Given the description of an element on the screen output the (x, y) to click on. 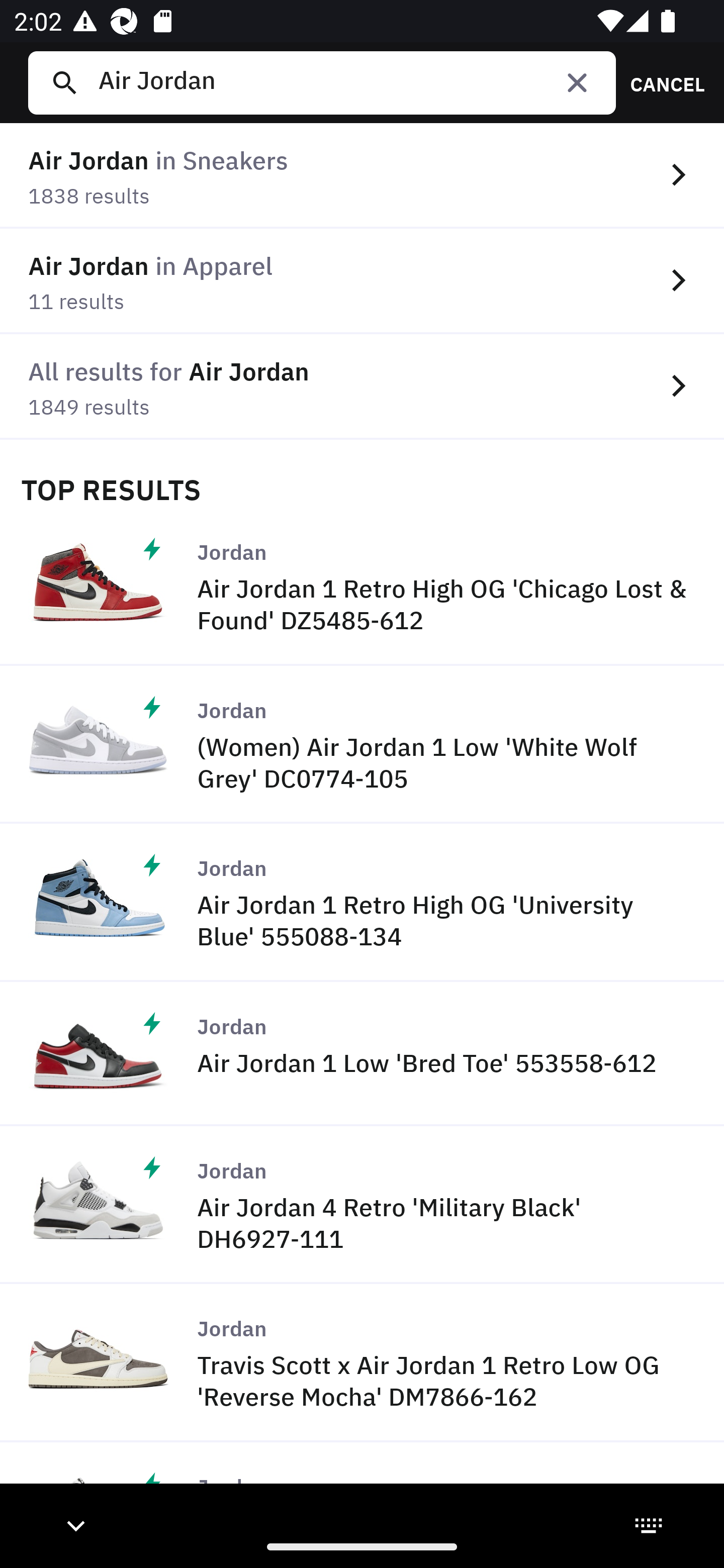
CANCEL (660, 82)
Air Jordan (349, 82)
 (577, 82)
Air Jordan  in Sneakers 1838 results  (362, 175)
Air Jordan  in Apparel 11 results  (362, 280)
All results for  Air Jordan 1849 results  (362, 386)
 Jordan Air Jordan 1 Low 'Bred Toe' 553558‑612 (362, 1053)
